Given the description of an element on the screen output the (x, y) to click on. 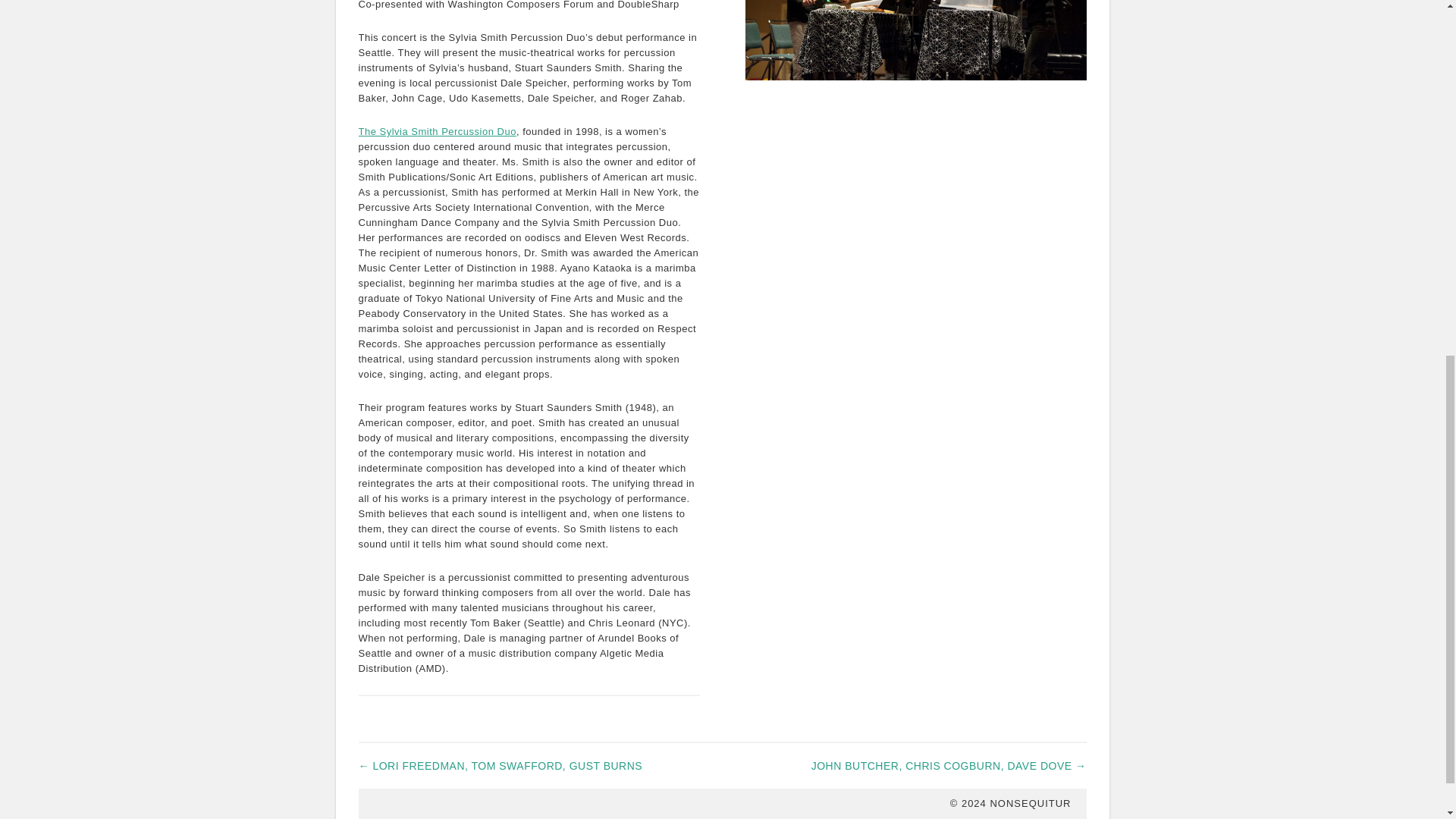
The Sylvia Smith Percussion Duo (436, 131)
